Given the description of an element on the screen output the (x, y) to click on. 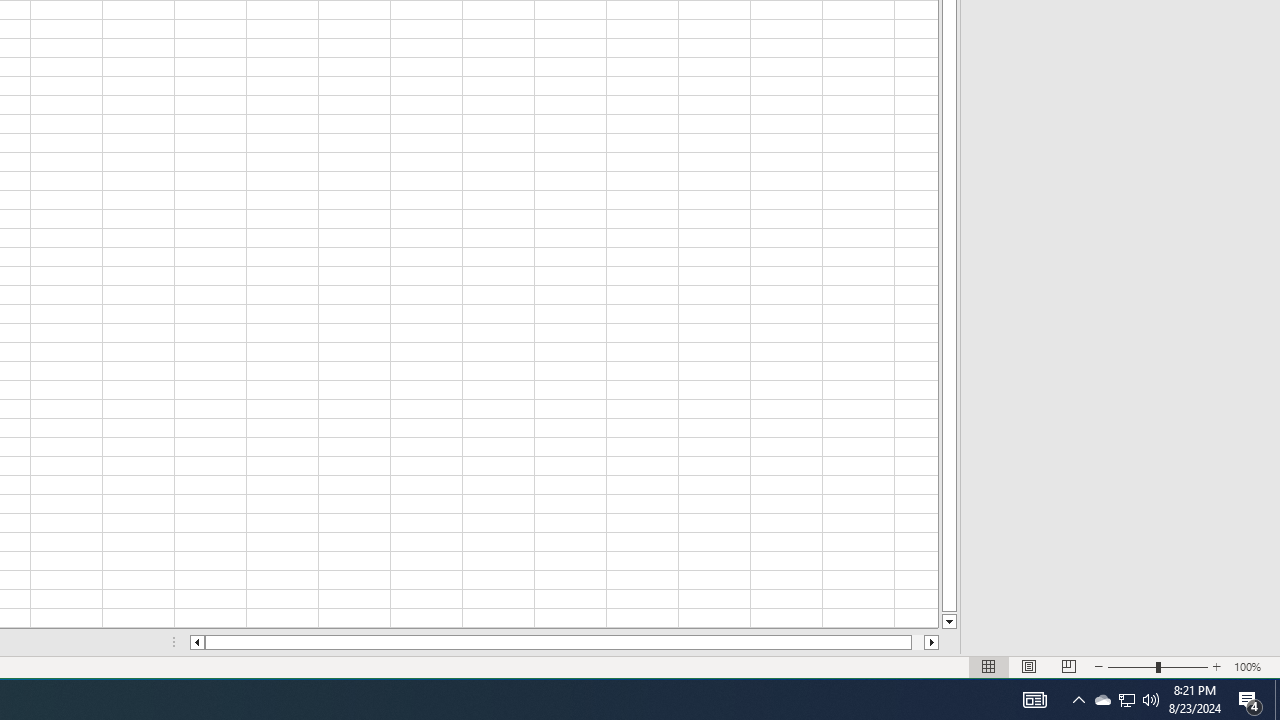
Line down (948, 622)
Normal (988, 667)
Zoom In (1217, 667)
Class: NetUIScrollBar (564, 642)
Zoom Out (1131, 667)
User Promoted Notification Area (1126, 699)
Column left (196, 642)
Notification Chevron (1078, 699)
Page right (917, 642)
Column right (932, 642)
Show desktop (1277, 699)
AutomationID: 4105 (1126, 699)
